Given the description of an element on the screen output the (x, y) to click on. 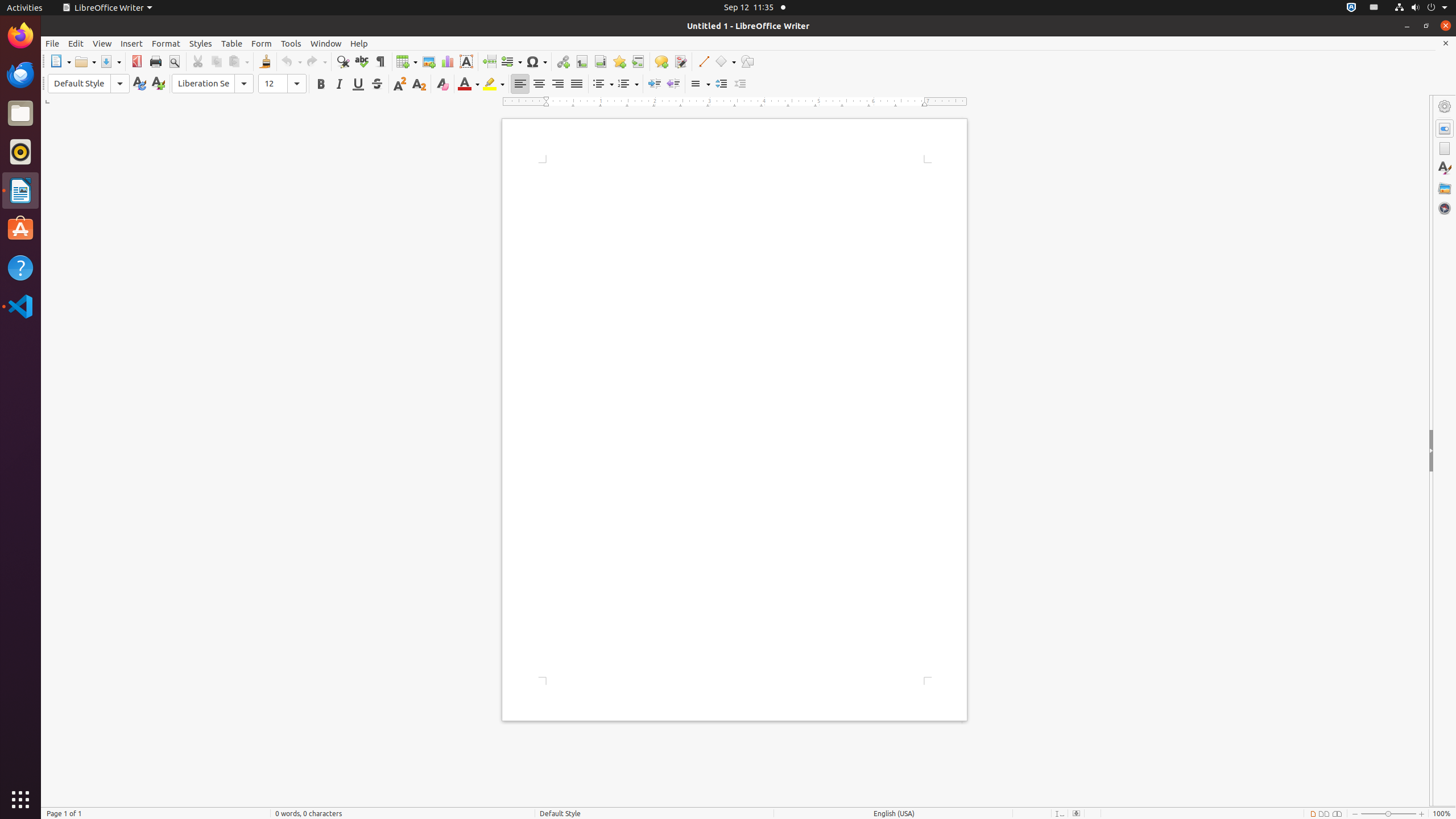
Font Size Element type: combo-box (282, 83)
Font Name Element type: combo-box (212, 83)
Font Color Element type: push-button (468, 83)
Cross-reference Element type: push-button (637, 61)
IsaHelpMain.desktop Element type: label (75, 170)
